Given the description of an element on the screen output the (x, y) to click on. 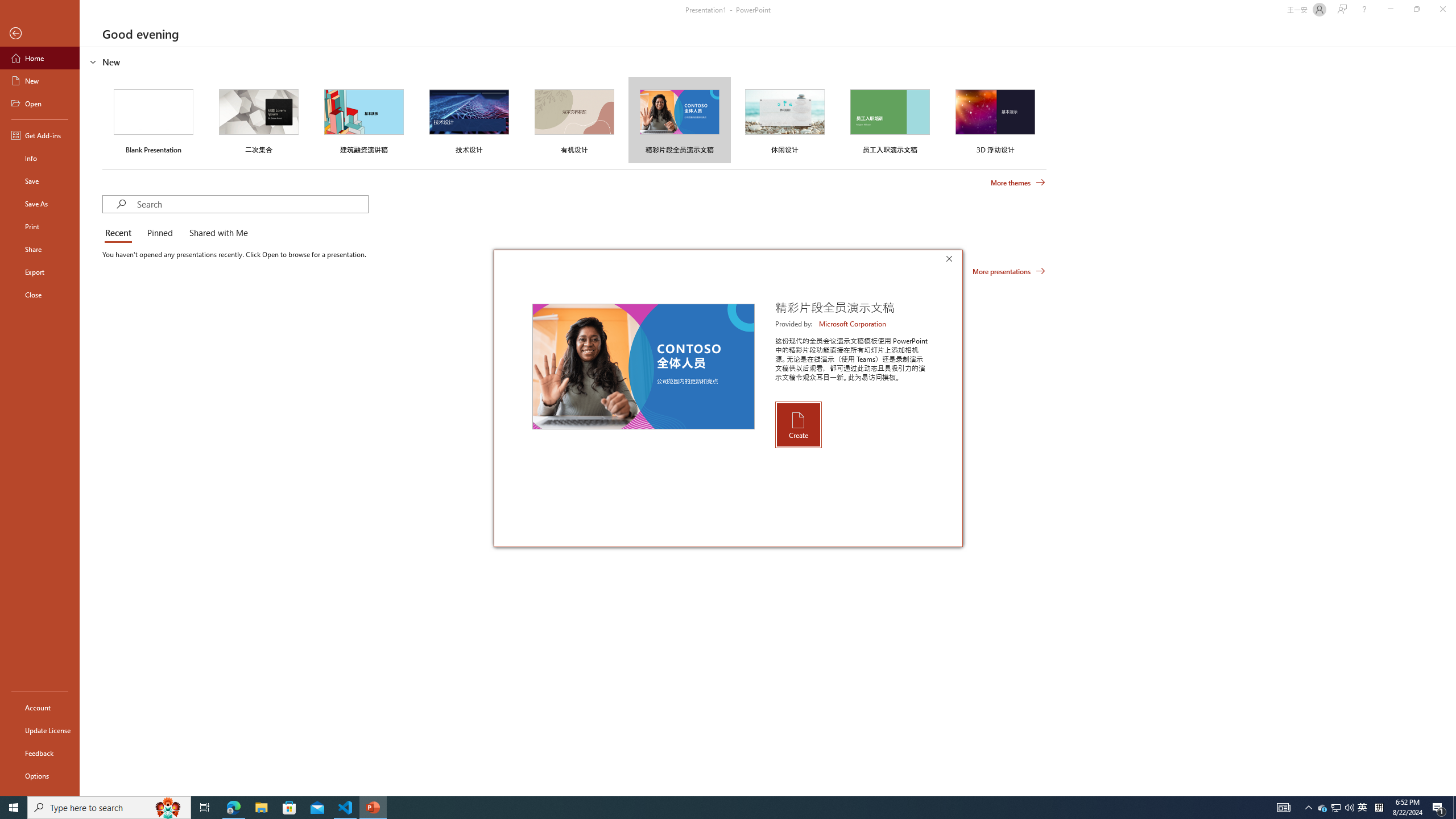
Account (40, 707)
Pinned (159, 233)
Create (797, 424)
Export (40, 271)
